Given the description of an element on the screen output the (x, y) to click on. 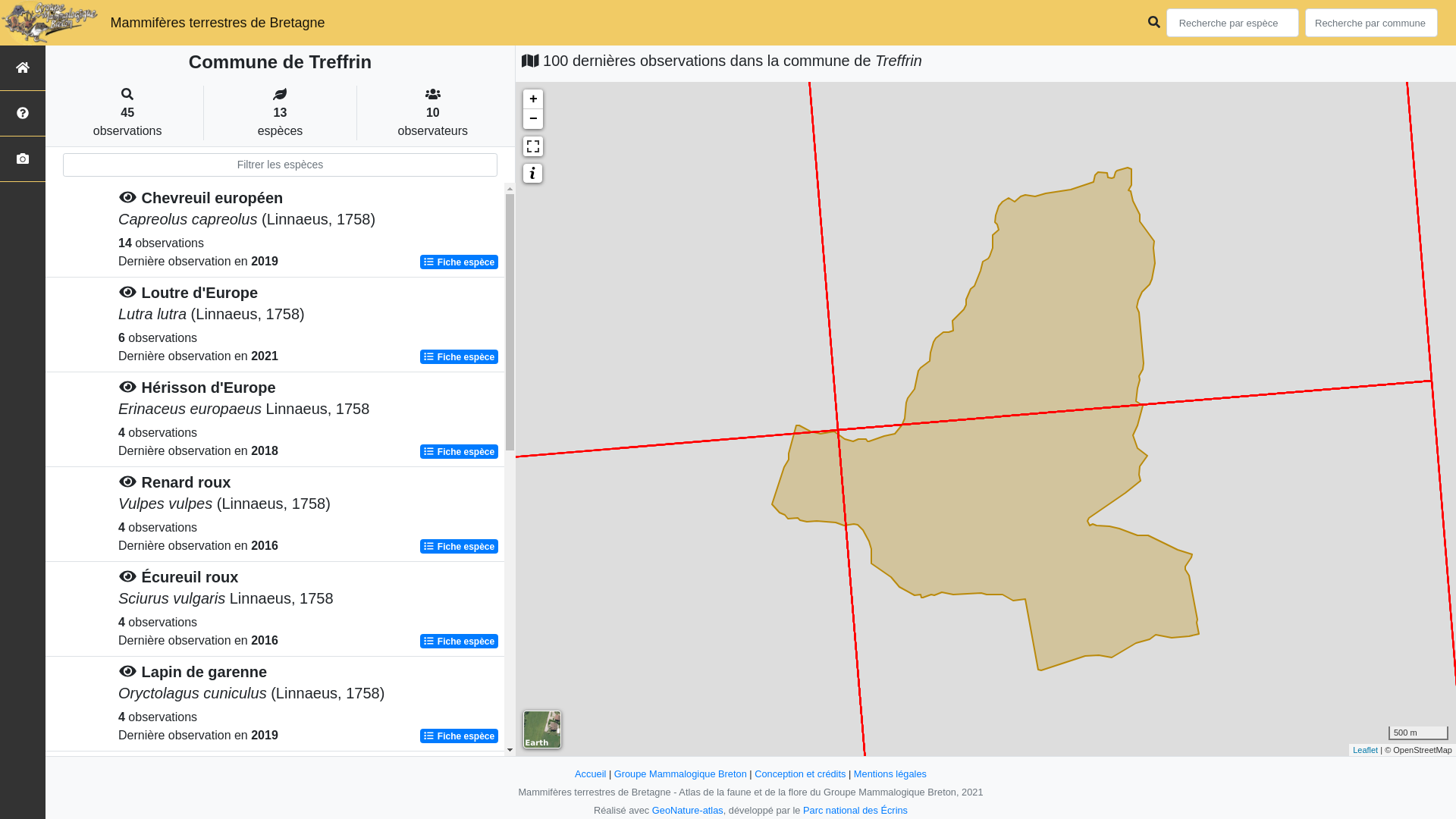
Leaflet Element type: text (1364, 748)
GeoNature-atlas Element type: text (687, 809)
Accueil Element type: text (589, 773)
+ Element type: text (532, 99)
Groupe Mammalogique Breton Element type: text (680, 773)
